Given the description of an element on the screen output the (x, y) to click on. 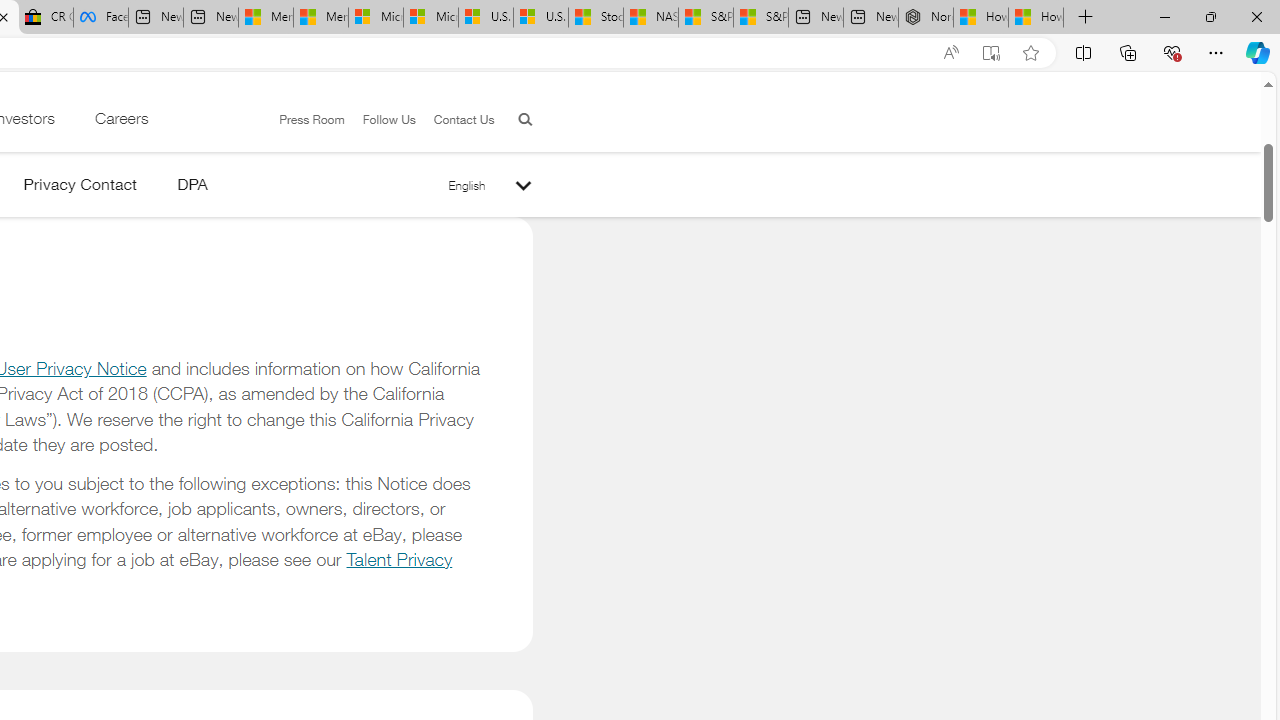
DPA (191, 188)
